Given the description of an element on the screen output the (x, y) to click on. 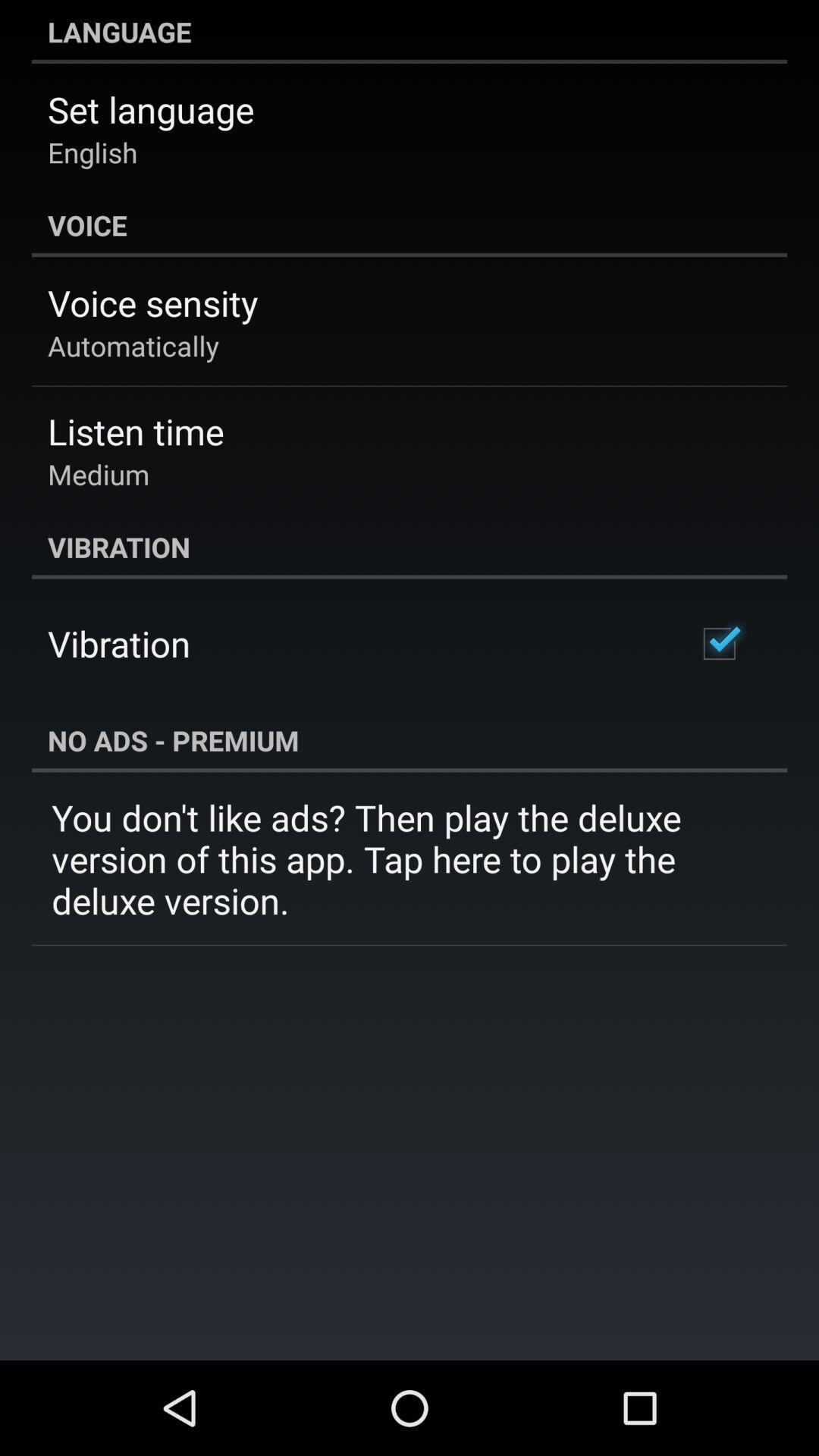
jump until set language (150, 109)
